Given the description of an element on the screen output the (x, y) to click on. 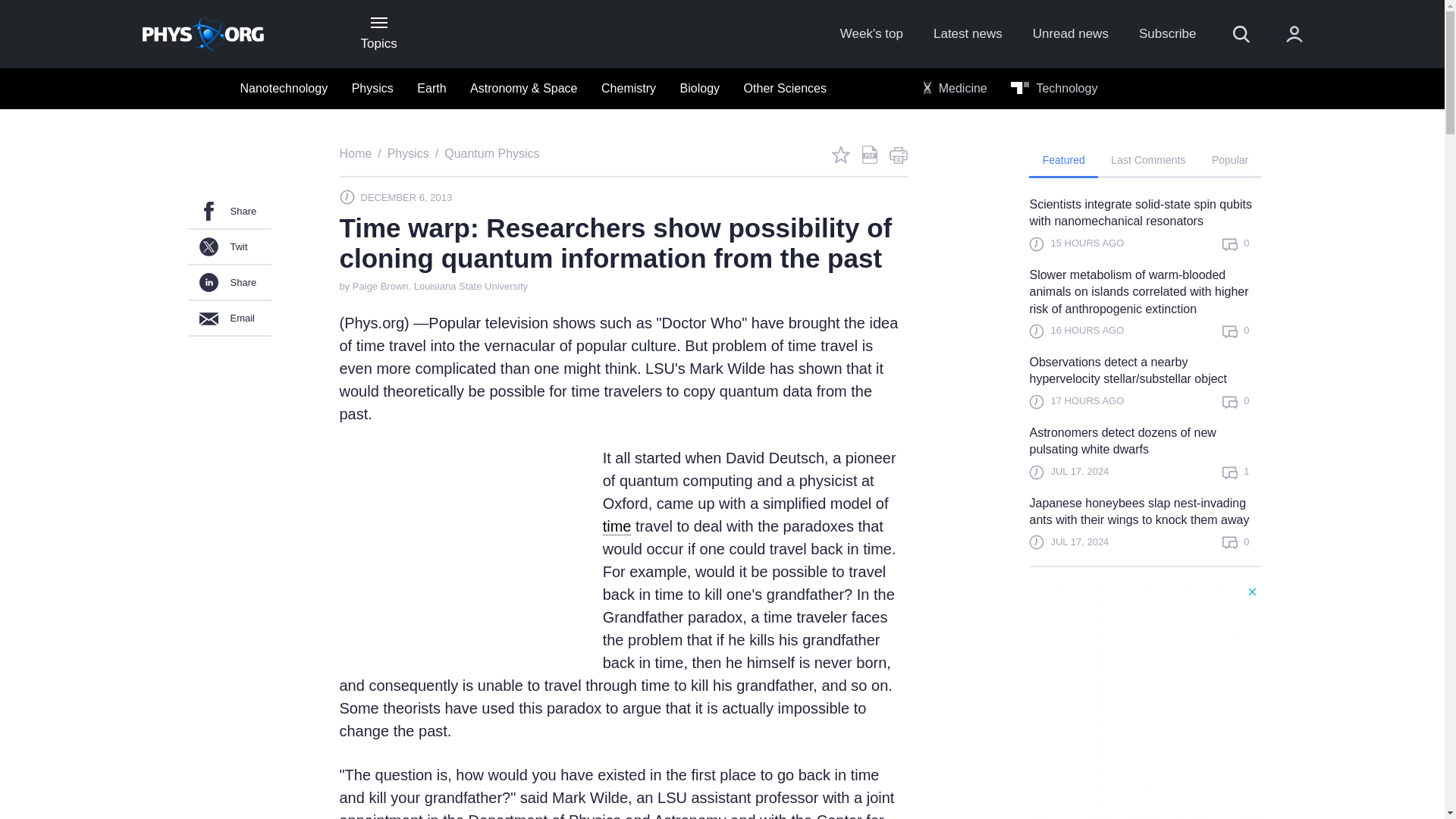
Topics (378, 33)
Louisiana State University (470, 285)
3rd party ad content (453, 547)
Technology (1054, 88)
Share (228, 283)
Unread news (1070, 34)
Save as pdf file (869, 154)
time (616, 526)
Latest news (968, 34)
Home (355, 153)
Physics (372, 88)
Share (228, 212)
Earth (430, 88)
Physics (408, 153)
Twit (228, 247)
